Given the description of an element on the screen output the (x, y) to click on. 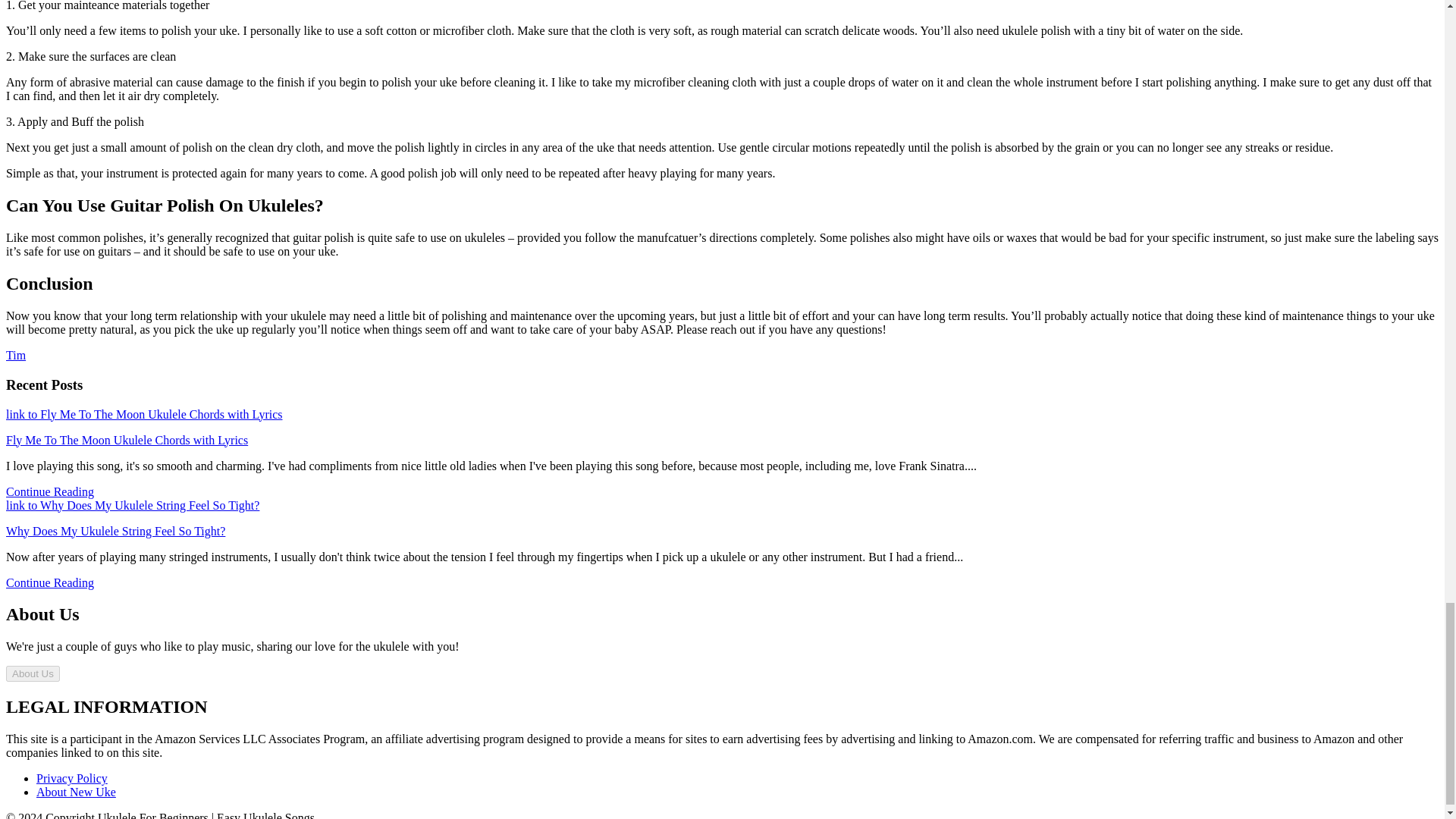
Why Does My Ukulele String Feel So Tight? (115, 530)
Tim (15, 354)
About New Uke (76, 791)
Fly Me To The Moon Ukulele Chords with Lyrics (126, 439)
Privacy Policy (71, 778)
Continue Reading (49, 581)
Continue Reading (49, 490)
About Us (32, 673)
